Given the description of an element on the screen output the (x, y) to click on. 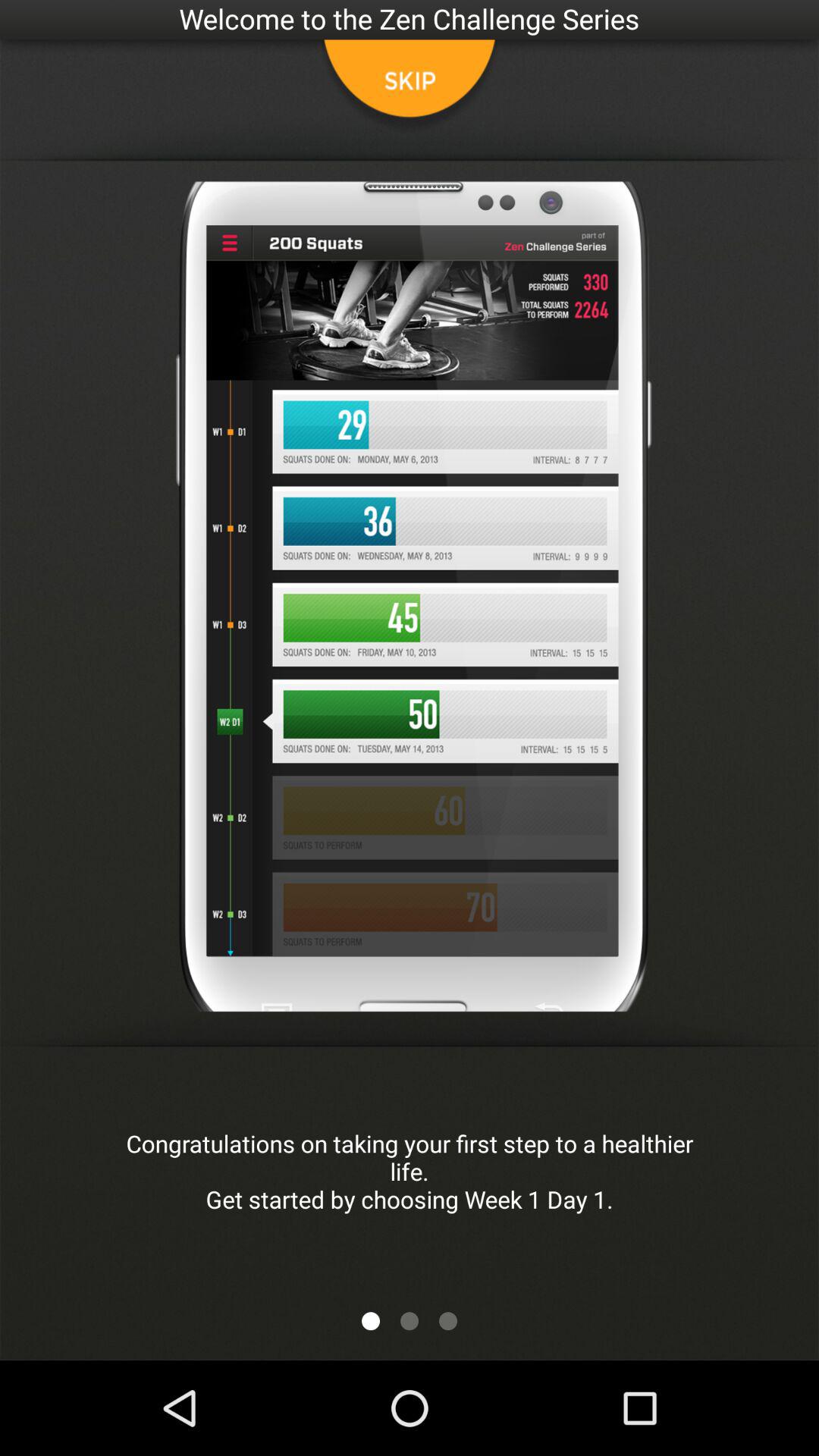
turn on item below the congratulations on taking (448, 1321)
